Given the description of an element on the screen output the (x, y) to click on. 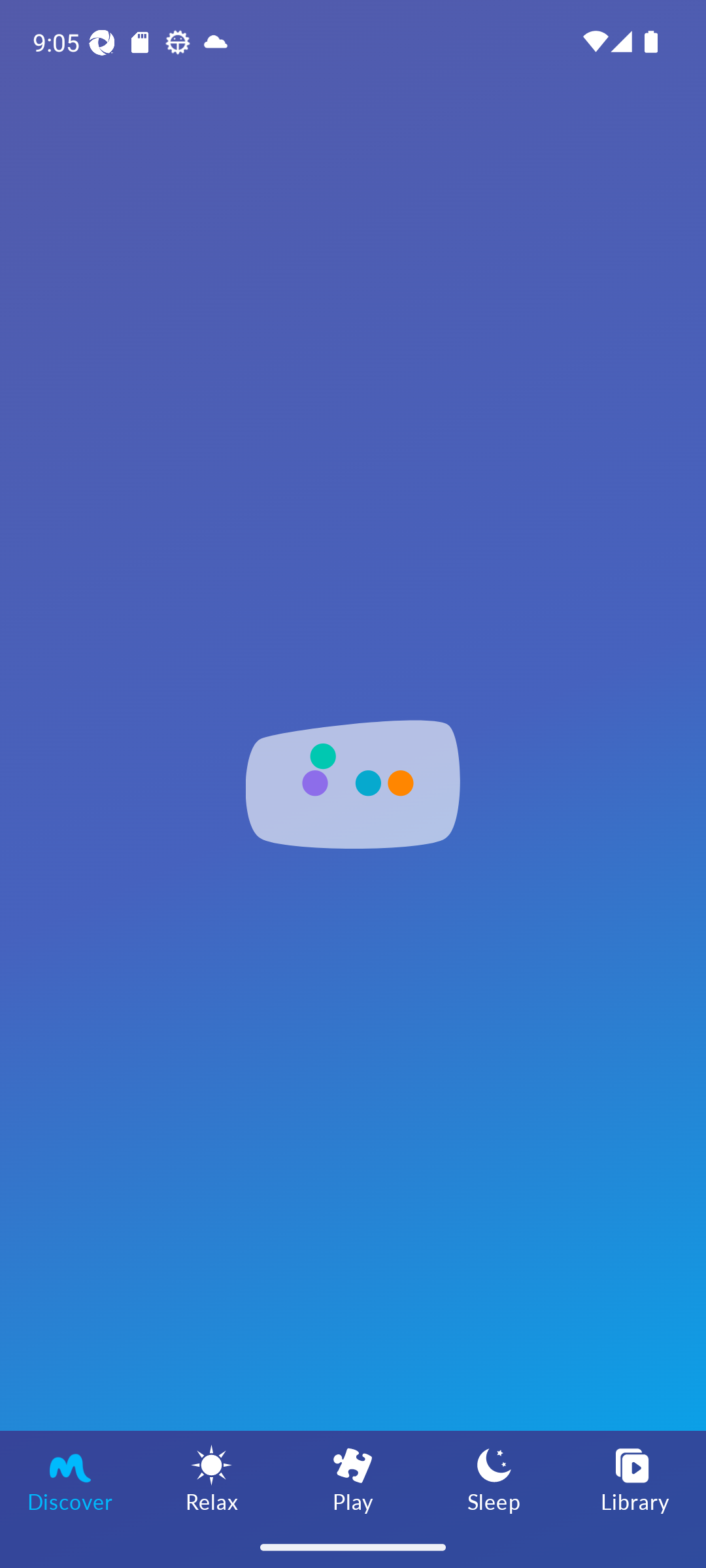
Relax (211, 1478)
Play (352, 1478)
Sleep (493, 1478)
Library (635, 1478)
